Given the description of an element on the screen output the (x, y) to click on. 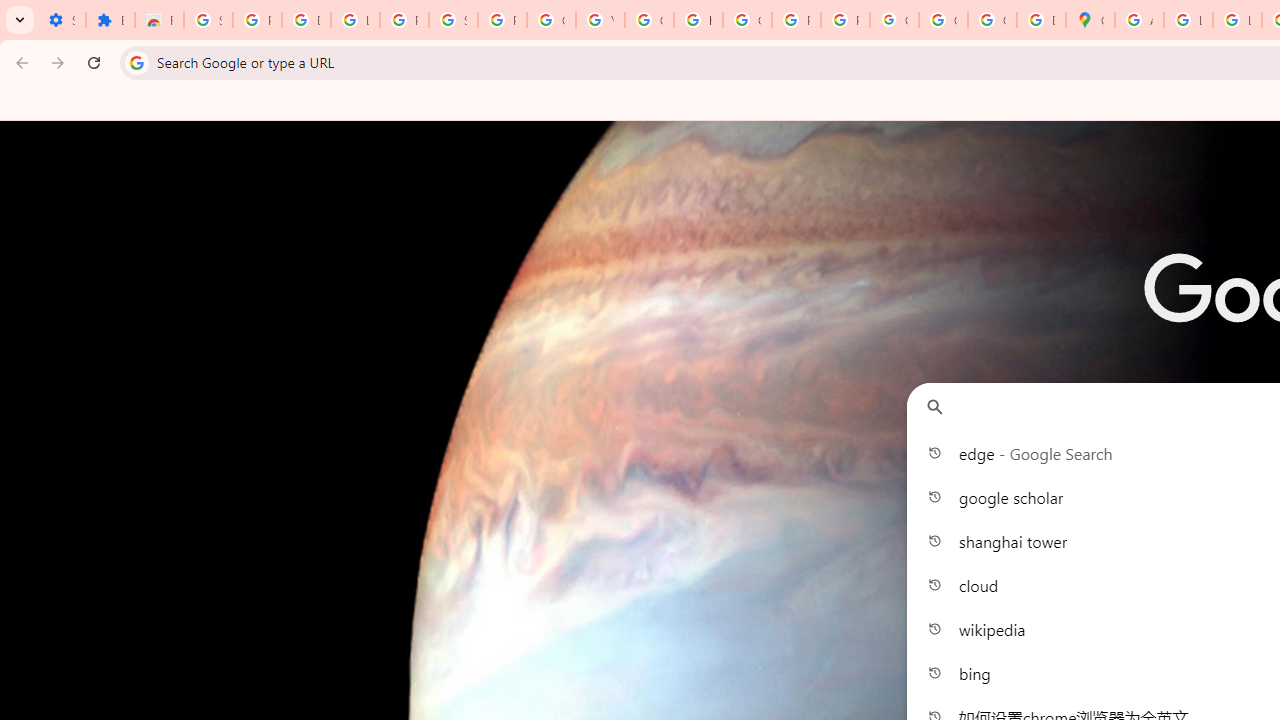
Settings - On startup (61, 20)
Google Maps (1090, 20)
Sign in - Google Accounts (452, 20)
